Given the description of an element on the screen output the (x, y) to click on. 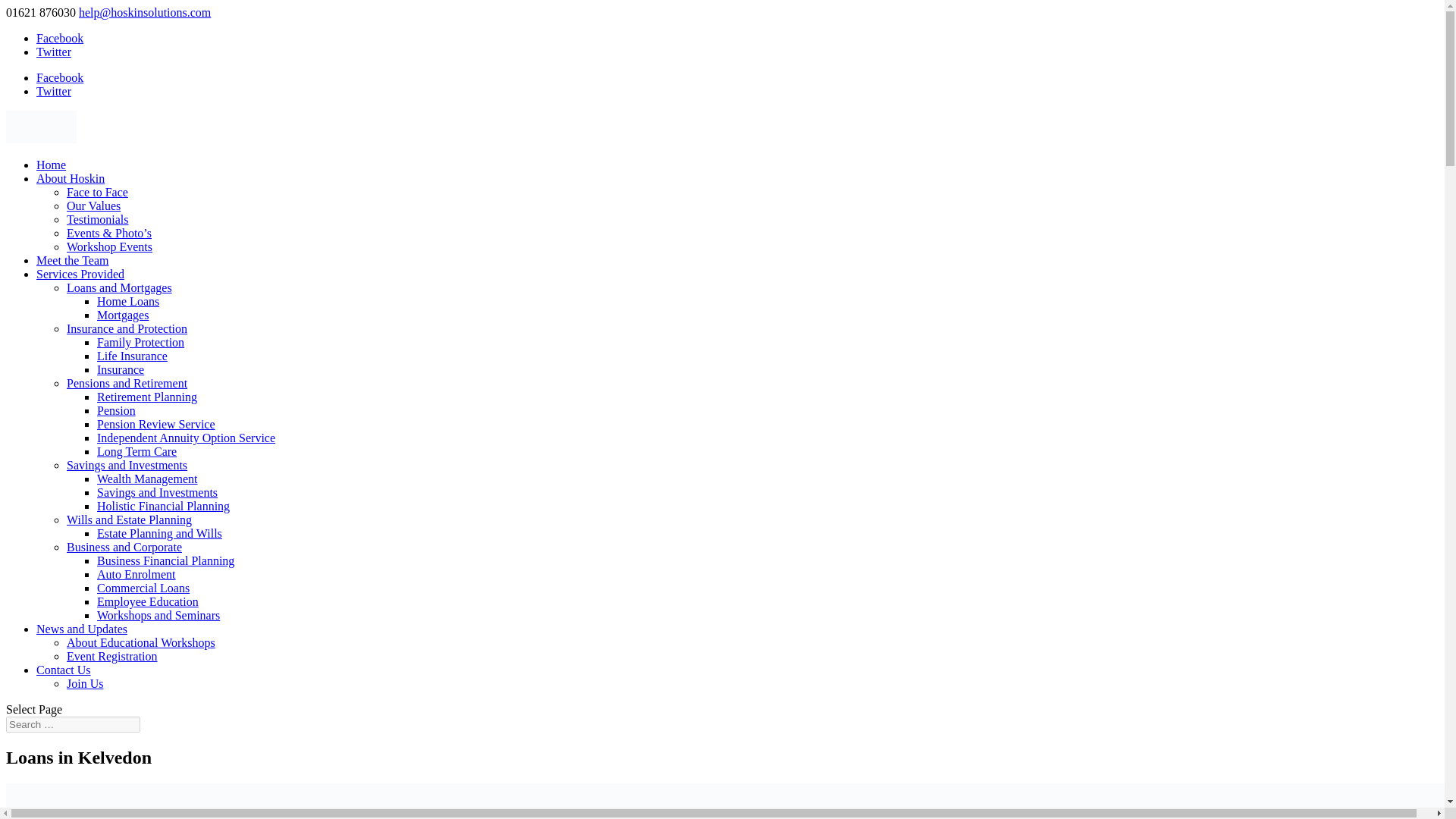
Auto Enrolment (136, 574)
Workshops and Seminars (158, 615)
Workshop Events (109, 246)
Insurance (120, 369)
Estate Planning and Wills (159, 533)
Commercial Loans (143, 587)
Our Values (93, 205)
Twitter (53, 91)
Pension (116, 410)
Pensions and Retirement (126, 382)
Wills and Estate Planning (129, 519)
Savings and Investments (156, 492)
Home (50, 164)
Loans and Mortgages (118, 287)
About Hoskin (70, 178)
